Given the description of an element on the screen output the (x, y) to click on. 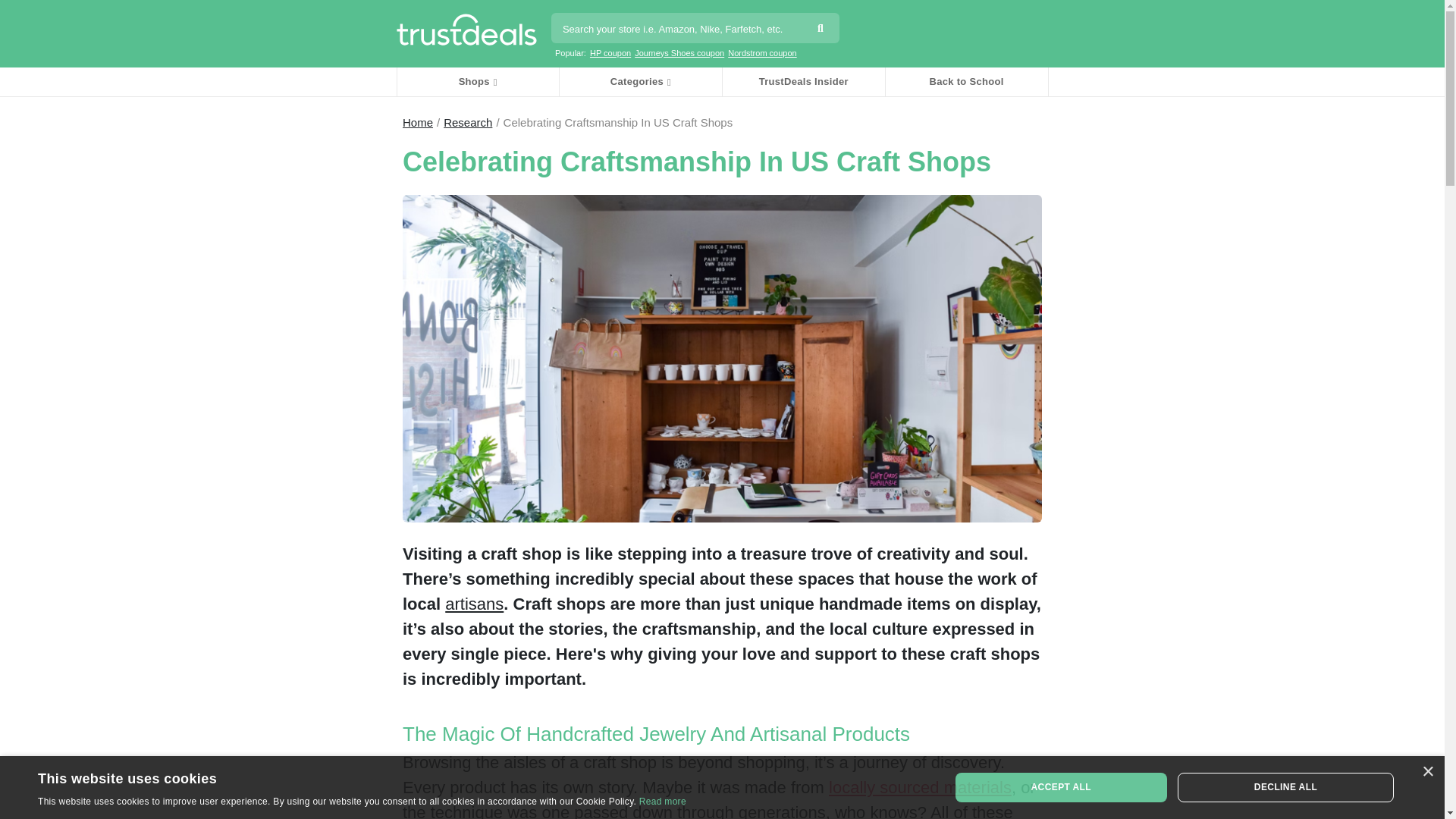
Nordstrom coupon (762, 52)
Search (824, 30)
HP coupon (609, 52)
Journeys Shoes coupon (678, 52)
